Given the description of an element on the screen output the (x, y) to click on. 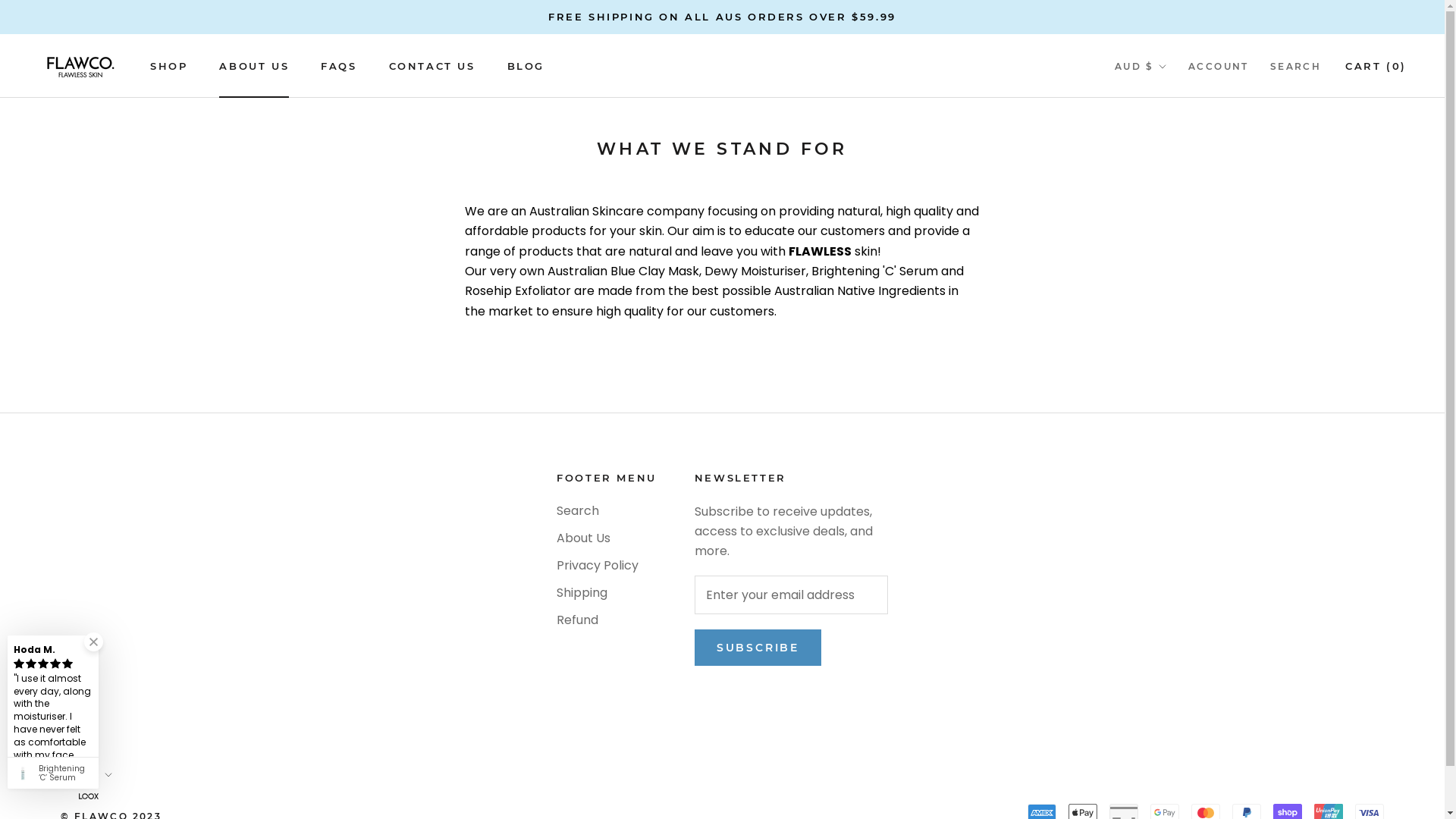
AUD $ Element type: text (86, 774)
CART (0) Element type: text (1375, 65)
AZN Element type: text (1169, 258)
FAQS
FAQS Element type: text (338, 65)
ETB Element type: text (1169, 779)
Refund Element type: text (606, 620)
CRC Element type: text (1169, 597)
CNY Element type: text (1169, 575)
FREE SHIPPING ON ALL AUS ORDERS OVER $59.99 Element type: text (722, 16)
BOB Element type: text (1169, 417)
AFN Element type: text (1169, 123)
EGP Element type: text (1169, 756)
CONTACT US
CONTACT US Element type: text (432, 65)
CHF Element type: text (1169, 553)
BLOG
BLOG Element type: text (525, 65)
CVE Element type: text (1169, 620)
BDT Element type: text (1169, 327)
SHOP
SHOP Element type: text (168, 65)
EUR Element type: text (1169, 801)
BSD Element type: text (1169, 440)
BWP Element type: text (1169, 462)
DJF Element type: text (1169, 666)
AUD Element type: text (1169, 214)
ALL Element type: text (1169, 145)
AUD $ Element type: text (1140, 66)
BND Element type: text (1169, 394)
DKK Element type: text (1169, 688)
CZK Element type: text (1169, 643)
Privacy Policy Element type: text (606, 565)
CAD Element type: text (1169, 507)
SEARCH Element type: text (1295, 66)
Shipping Element type: text (606, 592)
ABOUT US
ABOUT US Element type: text (253, 65)
CDF Element type: text (1169, 530)
BBD Element type: text (1169, 304)
AMD Element type: text (1169, 168)
ANG Element type: text (1169, 191)
AWG Element type: text (1169, 236)
ACCOUNT Element type: text (1218, 66)
DOP Element type: text (1169, 710)
BZD Element type: text (1169, 484)
BIF Element type: text (1169, 371)
Search Element type: text (606, 511)
SUBSCRIBE Element type: text (757, 647)
BAM Element type: text (1169, 281)
About Us Element type: text (606, 538)
DZD Element type: text (1169, 733)
AED Element type: text (1169, 101)
BGN Element type: text (1169, 349)
